Given the description of an element on the screen output the (x, y) to click on. 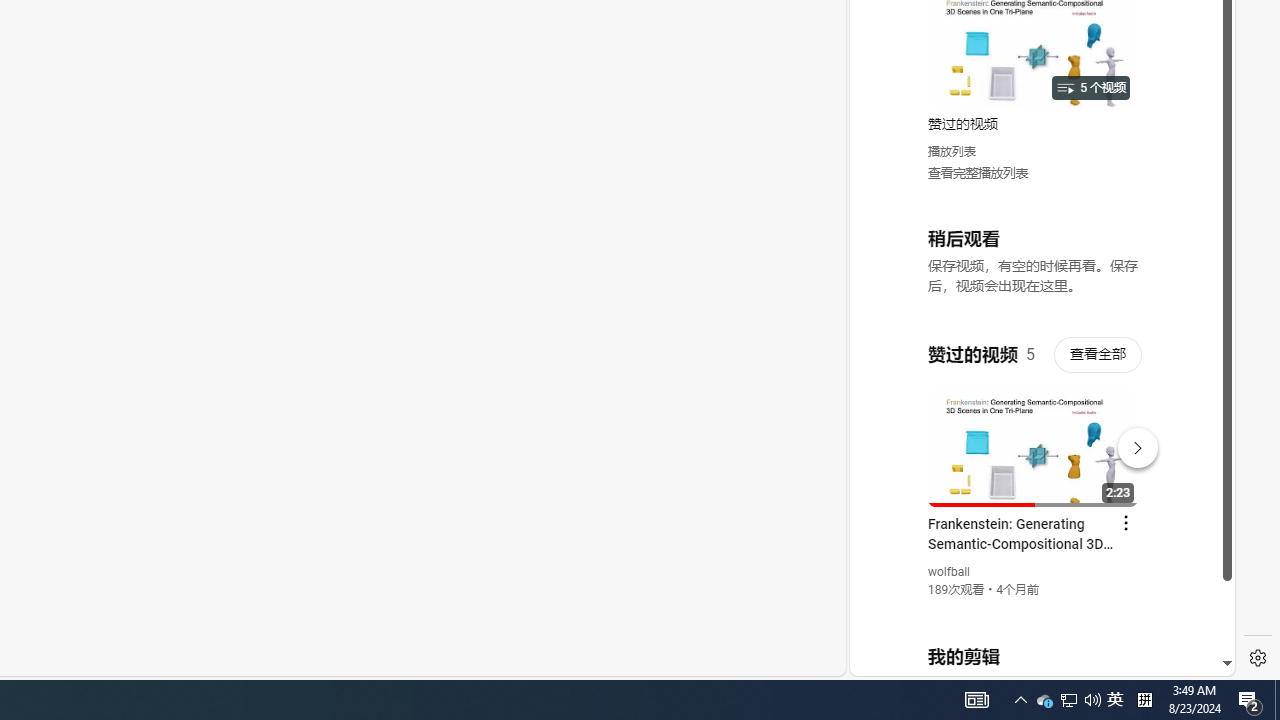
Click to scroll right (1196, 83)
YouTube (1034, 432)
Actions for this site (1131, 443)
#you (1034, 439)
YouTube - YouTube (1034, 266)
you (1034, 609)
